Given the description of an element on the screen output the (x, y) to click on. 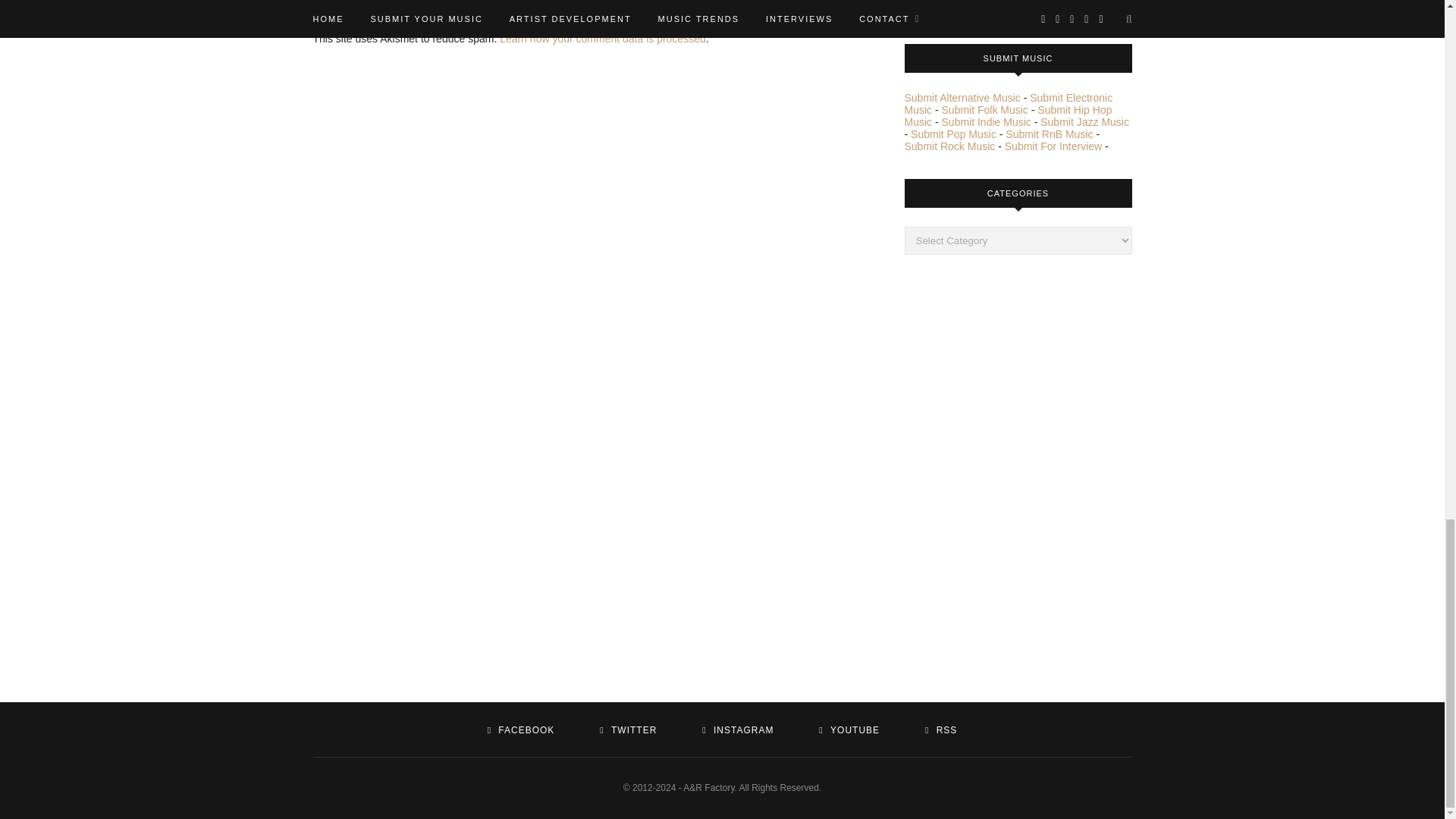
Learn how your comment data is processed (602, 38)
Post Comment (367, 1)
Post Comment (367, 1)
